Given the description of an element on the screen output the (x, y) to click on. 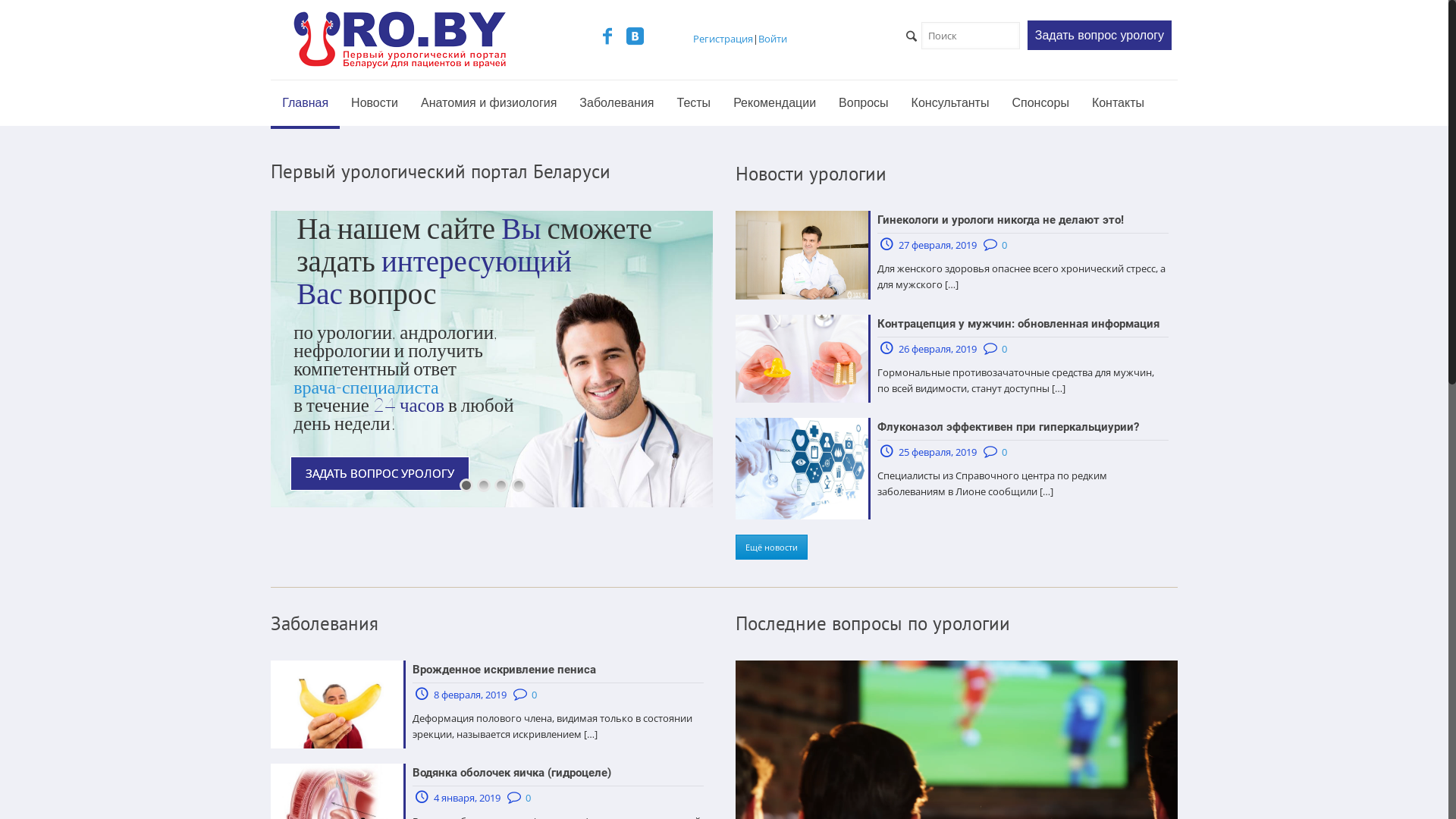
Facebook Element type: hover (607, 38)
0 Element type: text (1004, 451)
0 Element type: text (1004, 348)
0 Element type: text (527, 797)
VKontakte Element type: hover (634, 38)
0 Element type: text (533, 694)
0 Element type: text (1004, 244)
